Given the description of an element on the screen output the (x, y) to click on. 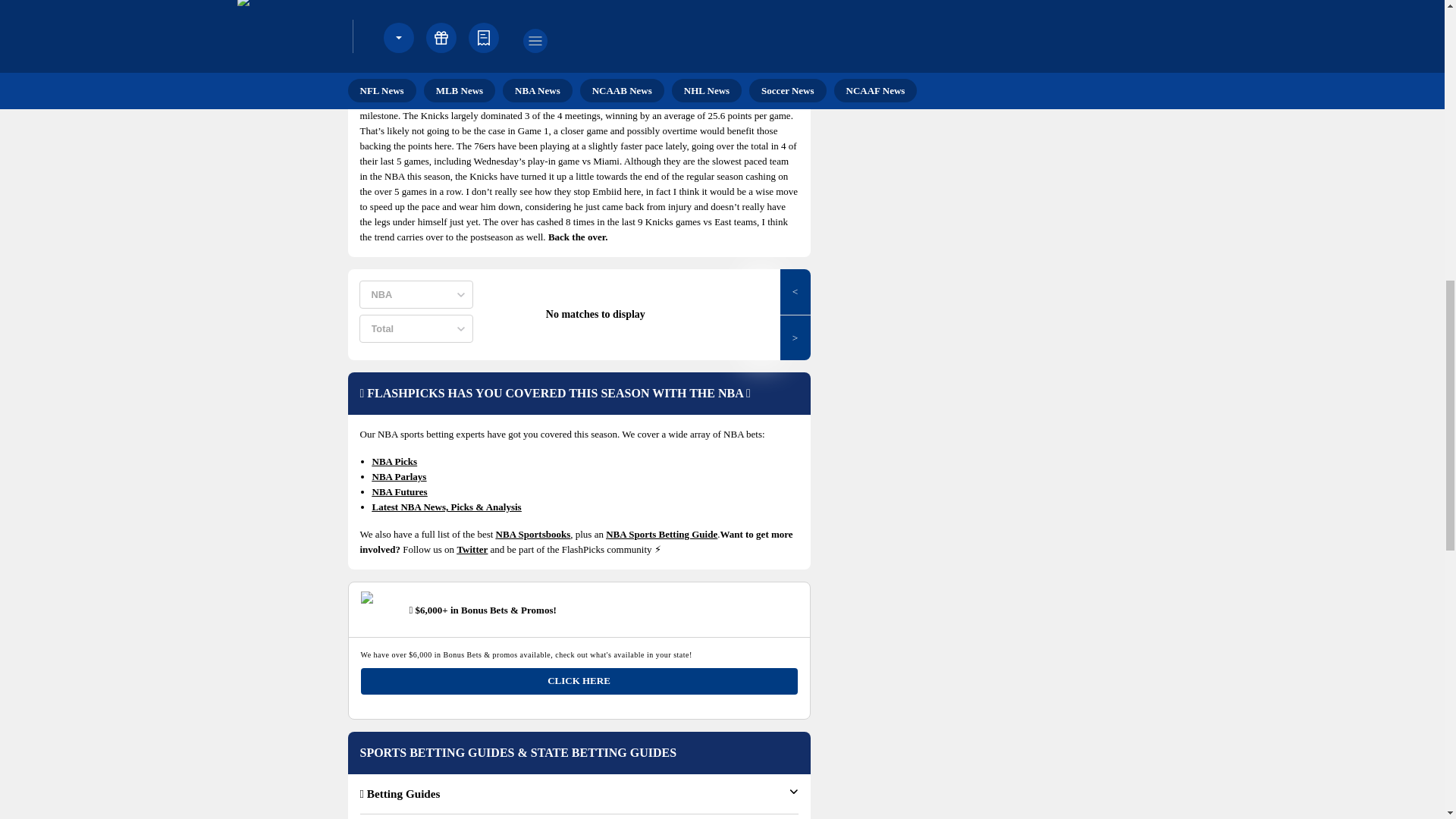
NBA Parlays (398, 476)
NBA Picks (393, 460)
YouTube Logo (927, 4)
NBA Futures (398, 491)
